Given the description of an element on the screen output the (x, y) to click on. 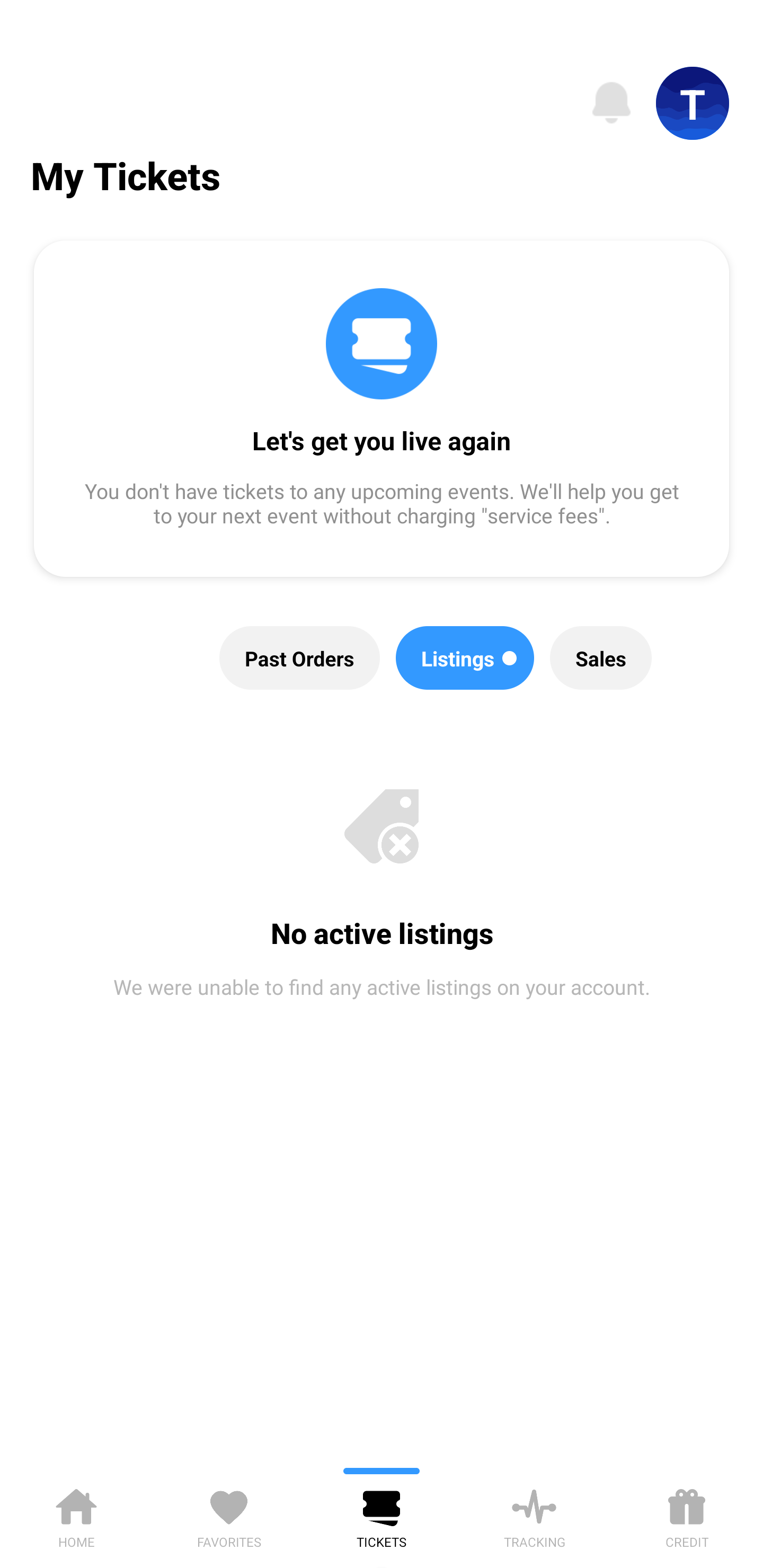
T (692, 103)
Past Orders (299, 657)
Listings (464, 657)
Sales (600, 657)
HOME (76, 1515)
FAVORITES (228, 1515)
TICKETS (381, 1515)
TRACKING (533, 1515)
CREDIT (686, 1515)
